Given the description of an element on the screen output the (x, y) to click on. 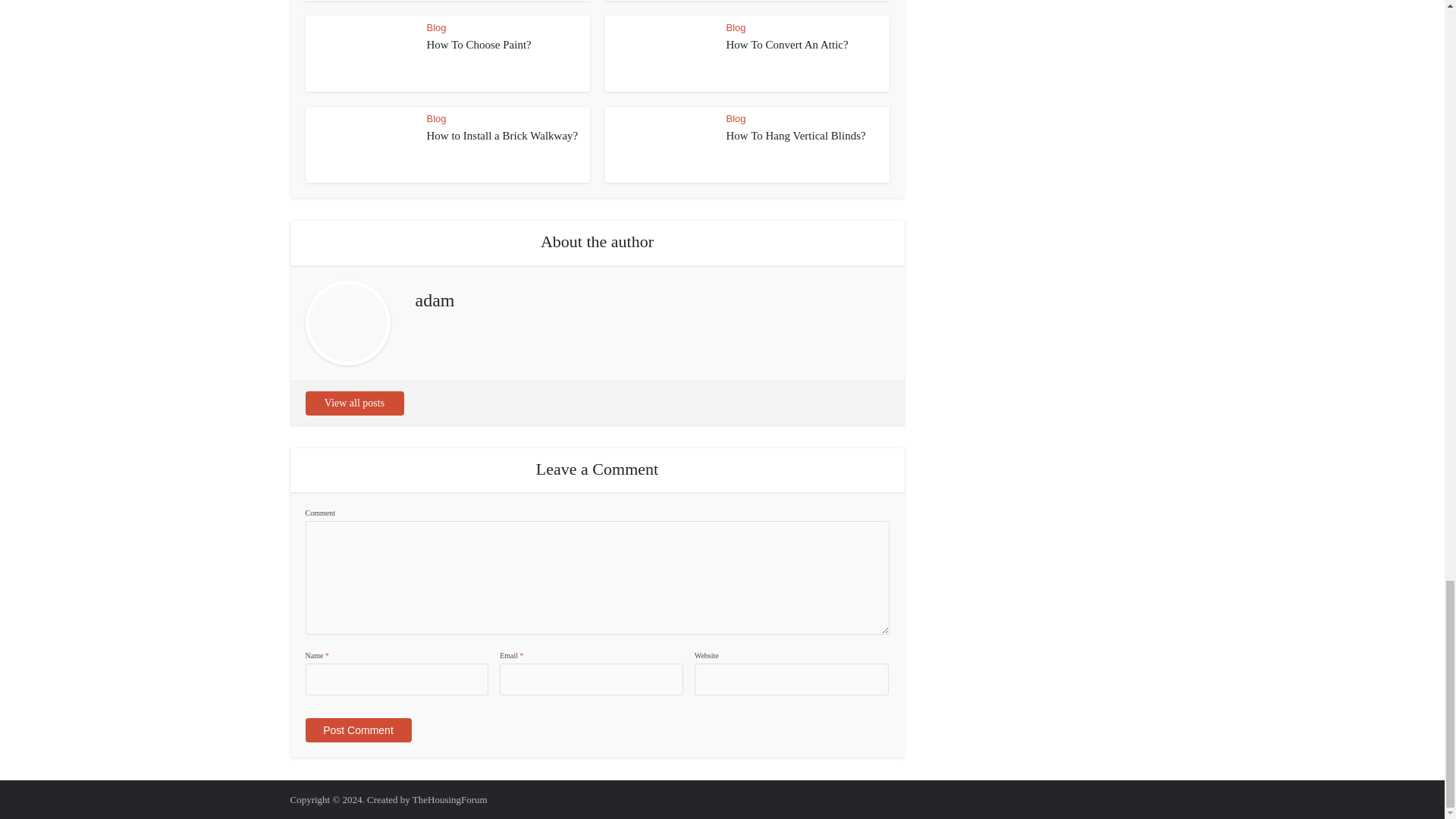
How To Hang Vertical Blinds? (796, 135)
Post Comment (357, 730)
Blog (435, 118)
Blog (735, 27)
How To Convert An Attic? (787, 44)
How to Install a Brick Walkway? (502, 135)
How To Choose Paint? (478, 44)
How To Convert An Attic? (787, 44)
How To Choose Paint? (478, 44)
Blog (735, 118)
How to Install a Brick Walkway? (502, 135)
Blog (435, 27)
